Given the description of an element on the screen output the (x, y) to click on. 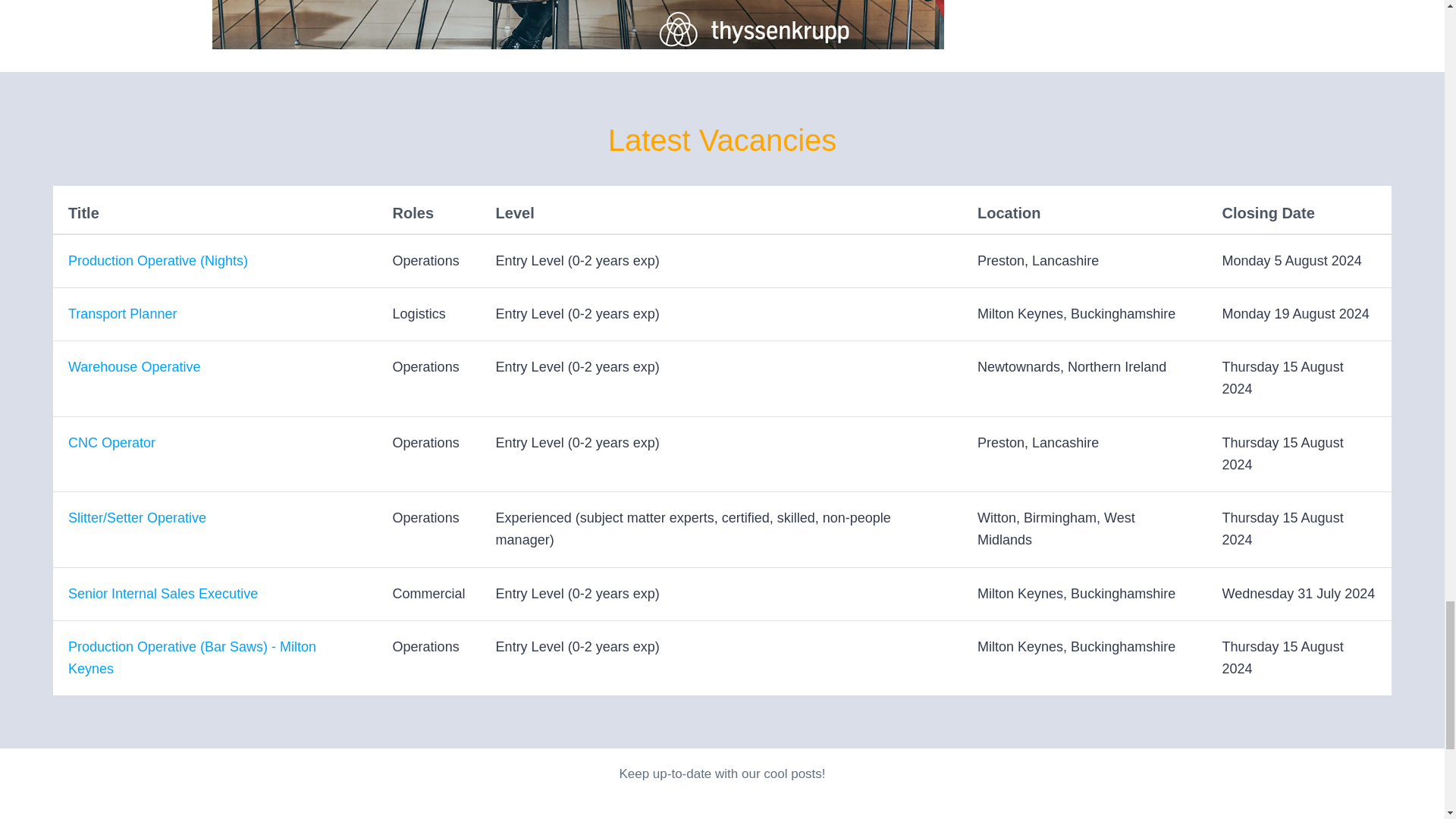
Senior Internal Sales Executive (162, 593)
CNC Operator (111, 442)
Transport Planner (122, 313)
Warehouse Operative (134, 366)
